Given the description of an element on the screen output the (x, y) to click on. 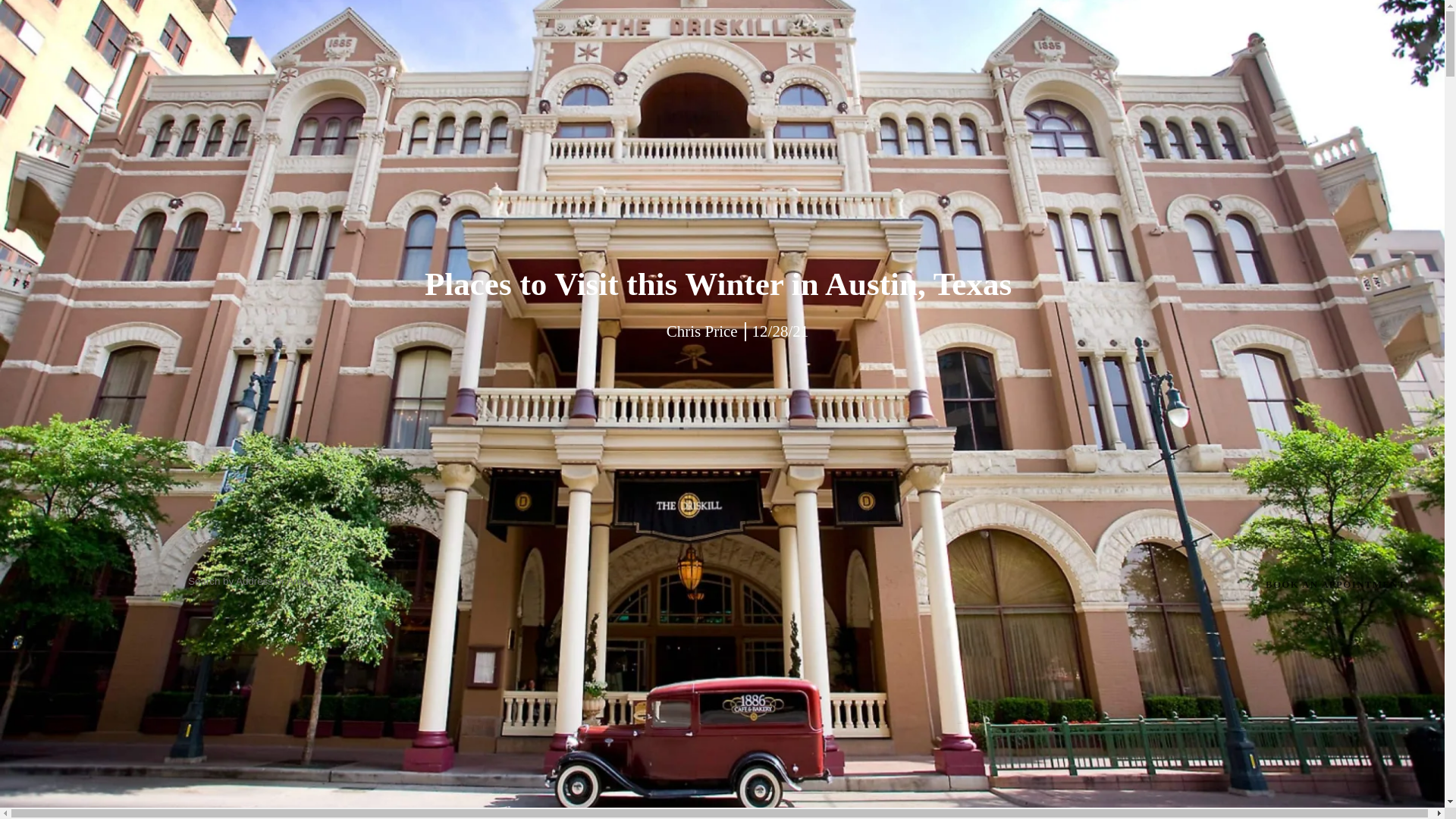
Listings (1339, 284)
Buy With Cash (1301, 775)
PUERTO RICO (610, 59)
Home Valuation (1296, 611)
TEAM (212, 59)
BLOG (812, 59)
Blog (1356, 720)
Team (1352, 229)
Puerto Rico (1319, 556)
HOME SEARCH (394, 59)
BOOK AN APPOINTMENT (1340, 583)
Why Austin? (1312, 393)
COMMERCIAL (505, 59)
Home (1349, 175)
CONTACT (882, 59)
